Given the description of an element on the screen output the (x, y) to click on. 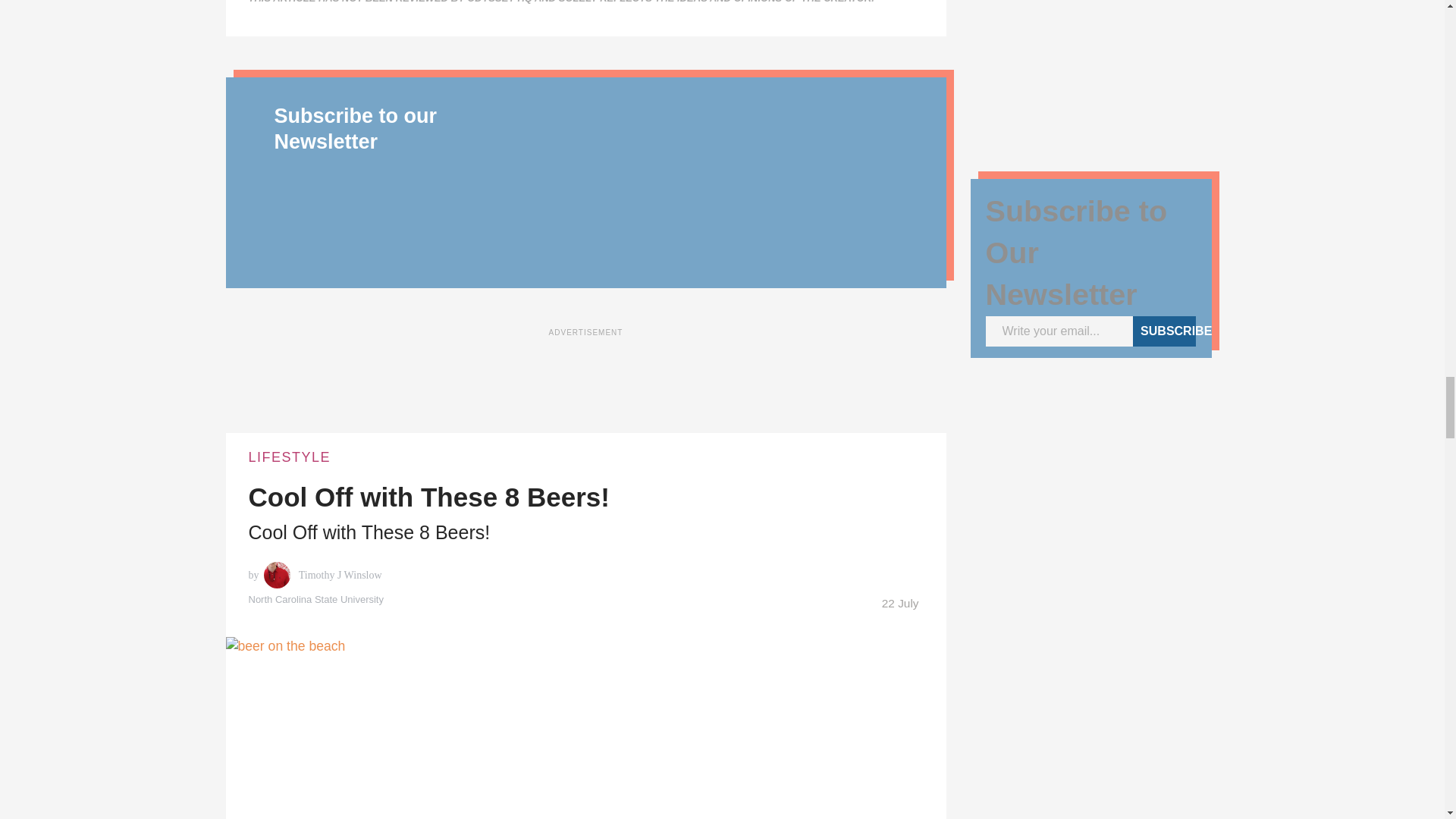
Form 0 (713, 187)
